Given the description of an element on the screen output the (x, y) to click on. 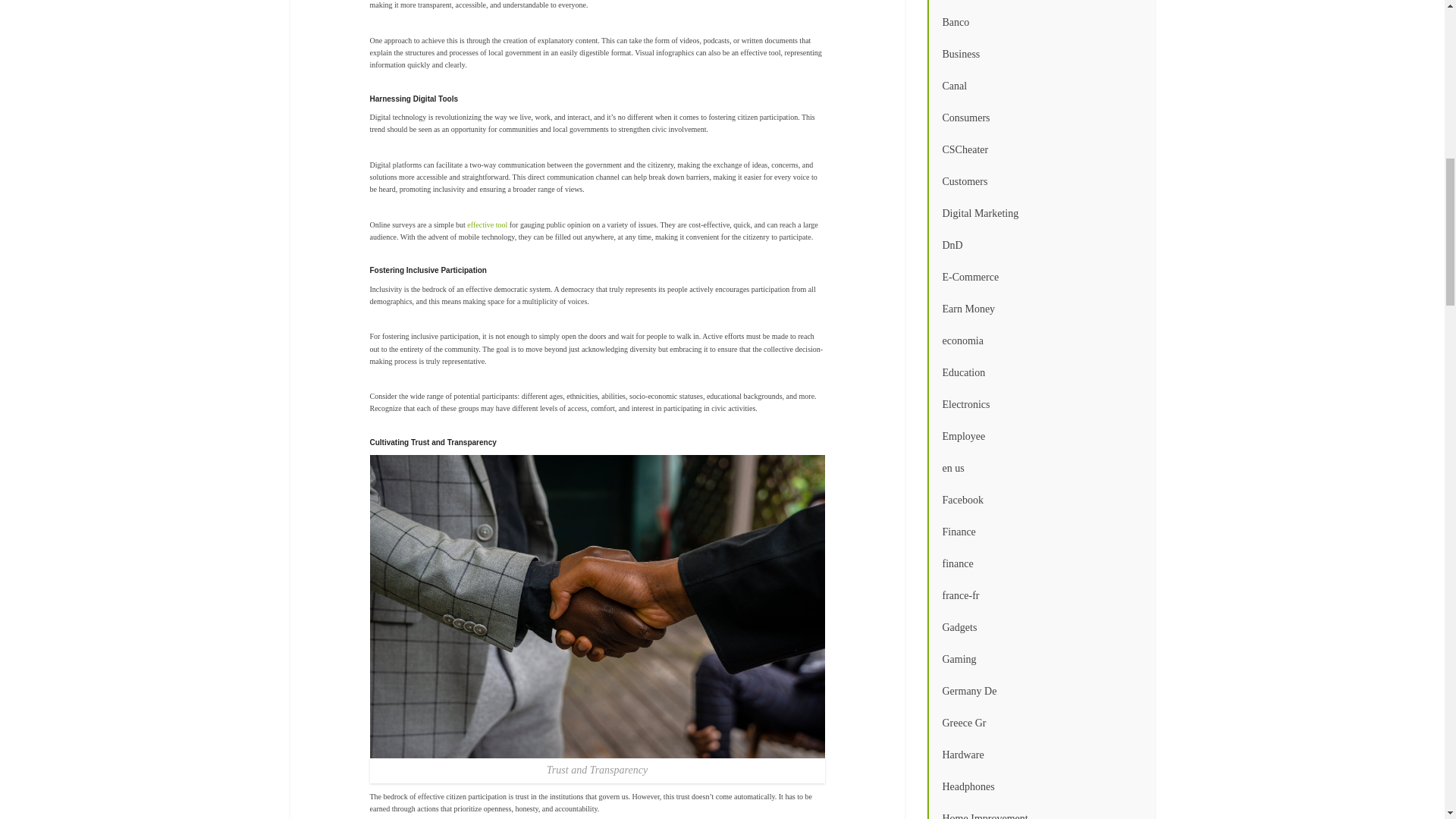
effective tool (487, 224)
